Given the description of an element on the screen output the (x, y) to click on. 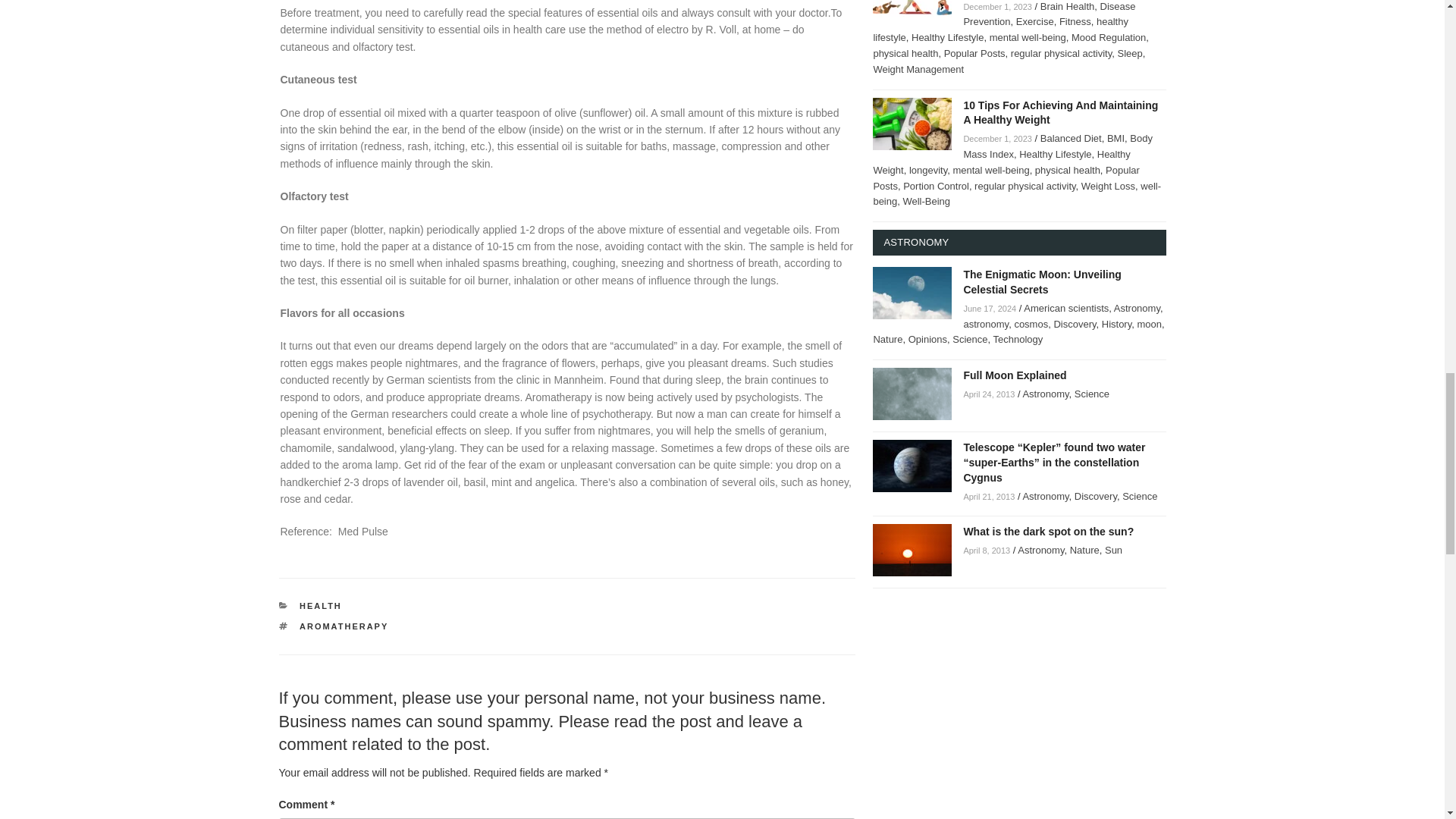
HEALTH (320, 605)
AROMATHERAPY (343, 625)
